Given the description of an element on the screen output the (x, y) to click on. 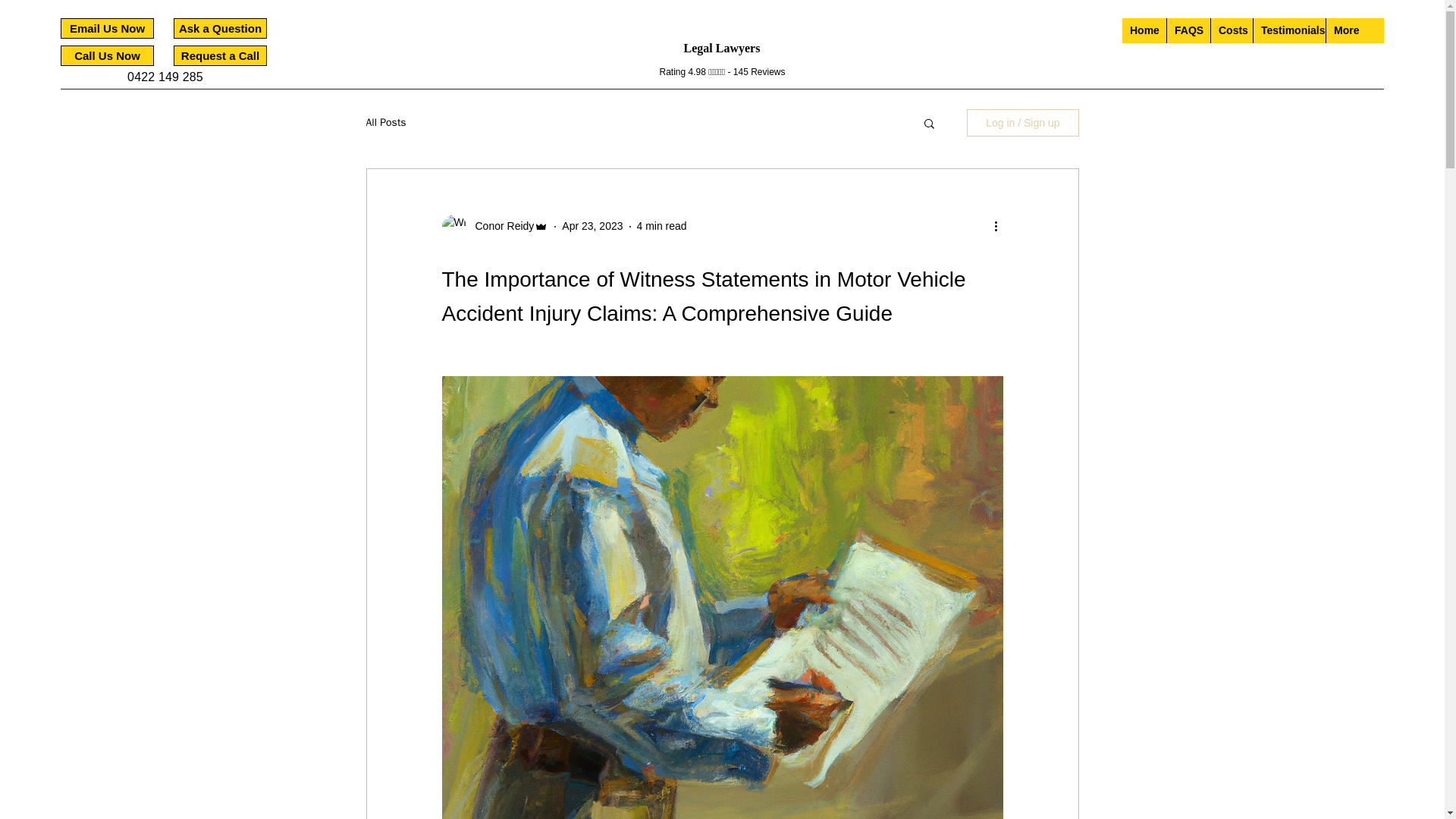
Apr 23, 2023 (592, 225)
All Posts (385, 122)
Home (1144, 30)
FAQS (1187, 30)
Request a Call (219, 55)
4 min read (662, 225)
Ask a Question (219, 28)
 0422 149 285  (164, 76)
Conor Reidy (499, 226)
Email Us Now (107, 28)
